Given the description of an element on the screen output the (x, y) to click on. 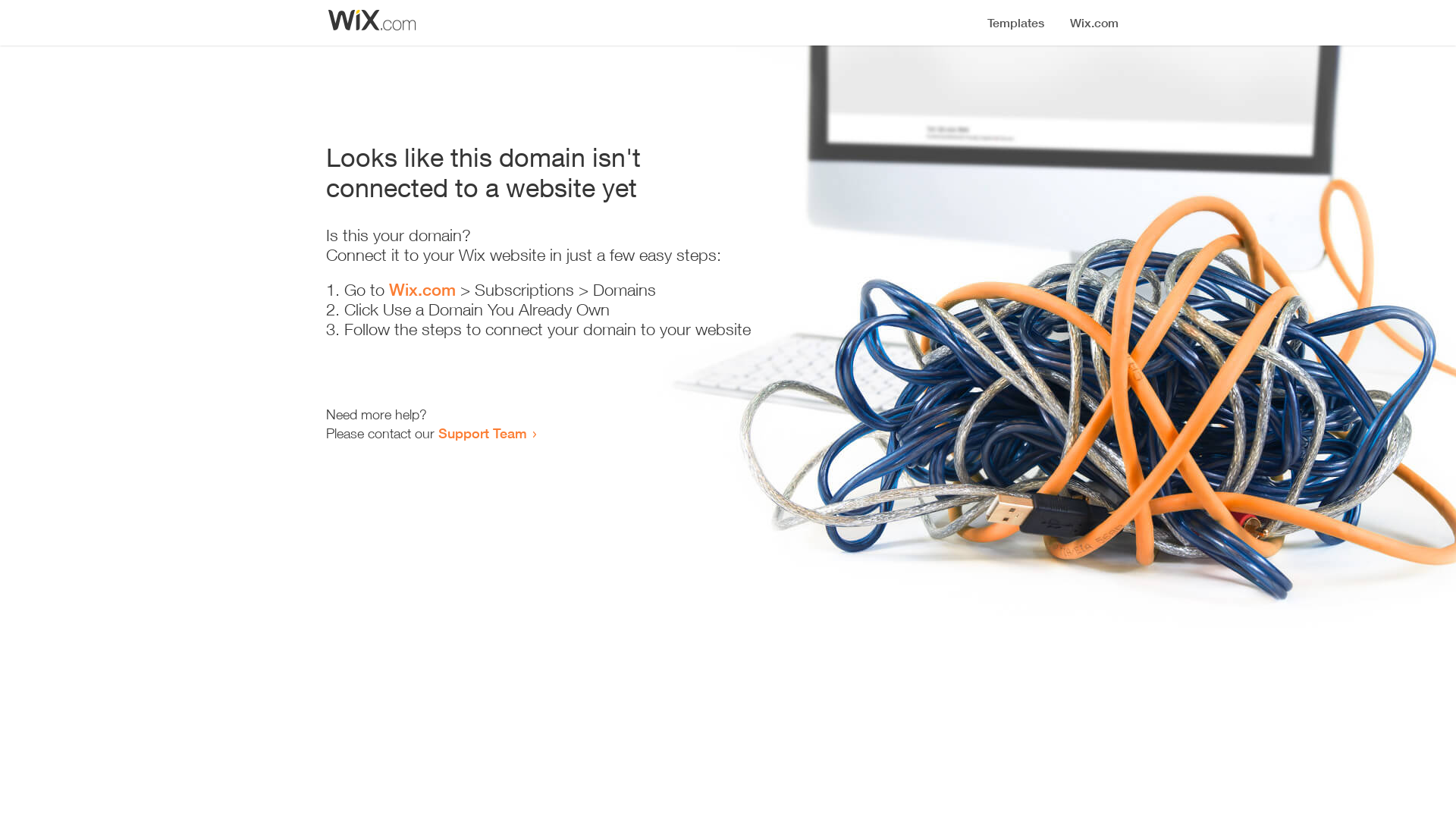
Support Team Element type: text (482, 432)
Wix.com Element type: text (422, 289)
